Given the description of an element on the screen output the (x, y) to click on. 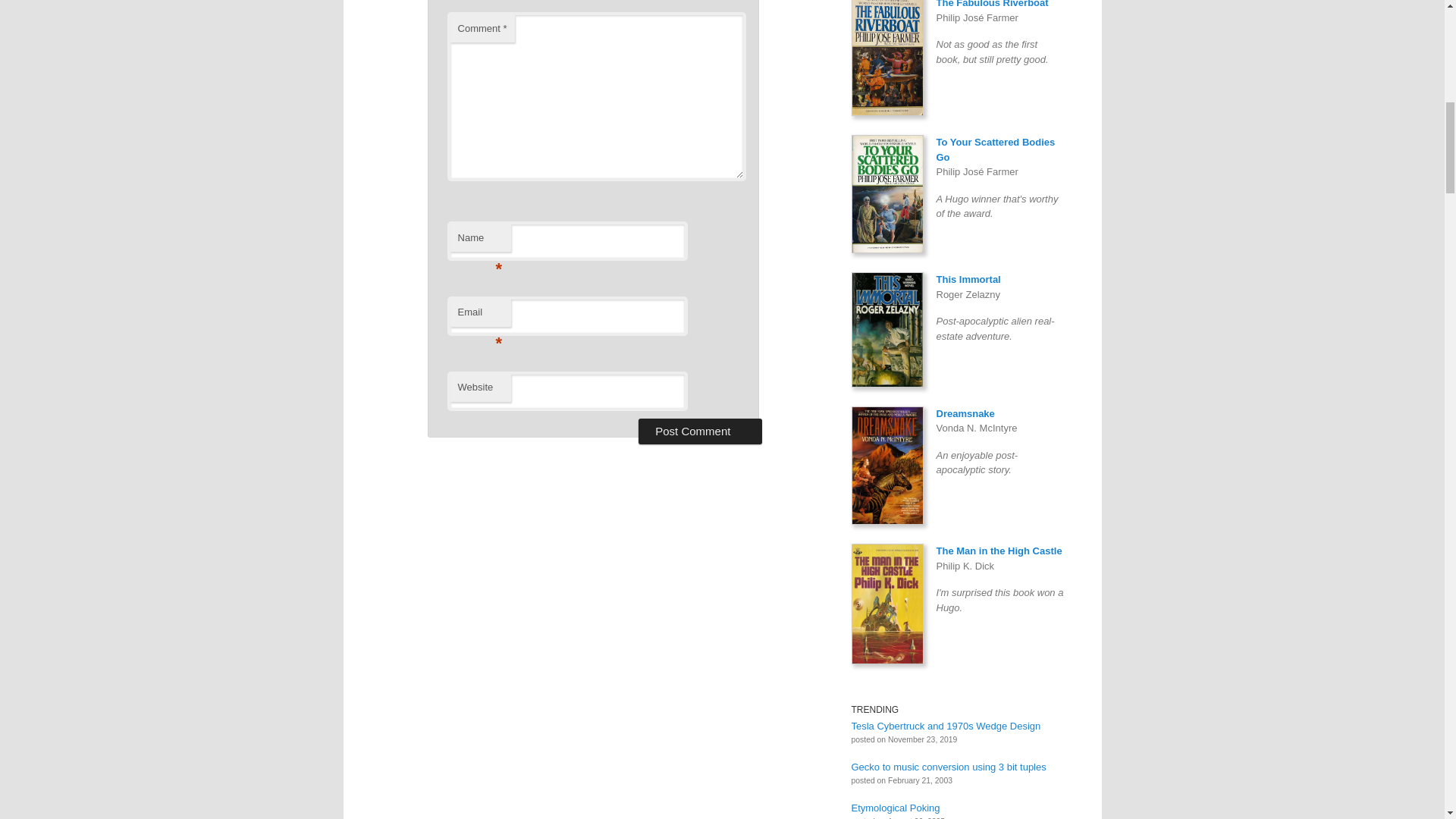
Tesla Cybertruck and 1970s Wedge Design (945, 726)
To Your Scattered Bodies Go (995, 149)
Gecko to music conversion using 3 bit tuples (947, 767)
The Man in the High Castle (998, 550)
Etymological Poking (894, 808)
The Fabulous Riverboat (992, 4)
Dreamsnake (965, 413)
Post Comment (700, 431)
This Immortal (968, 279)
Post Comment (700, 431)
